Given the description of an element on the screen output the (x, y) to click on. 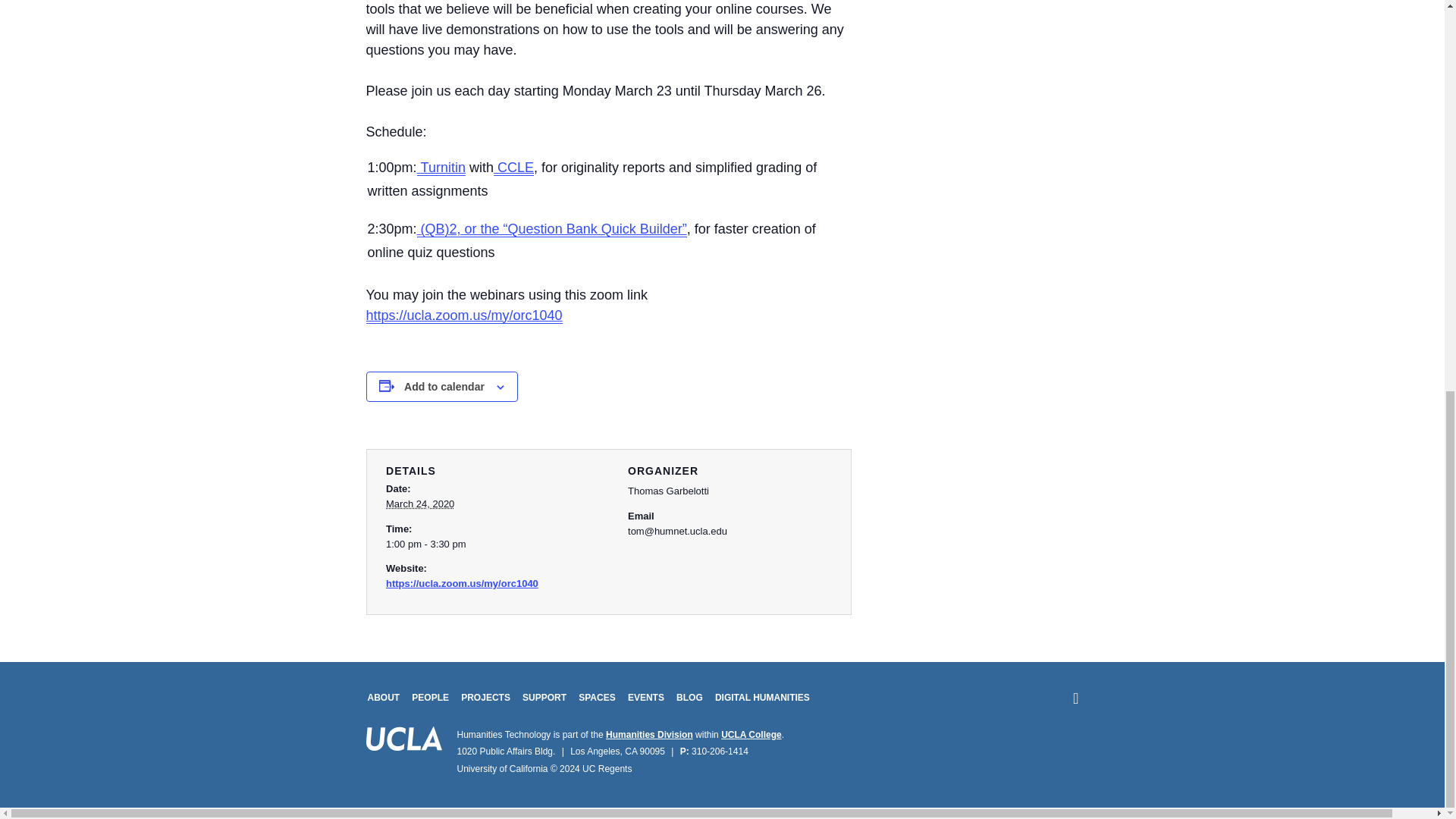
2020-03-24 (487, 544)
Turnitin (440, 167)
2020-03-24 (419, 503)
CCLE (513, 167)
